Given the description of an element on the screen output the (x, y) to click on. 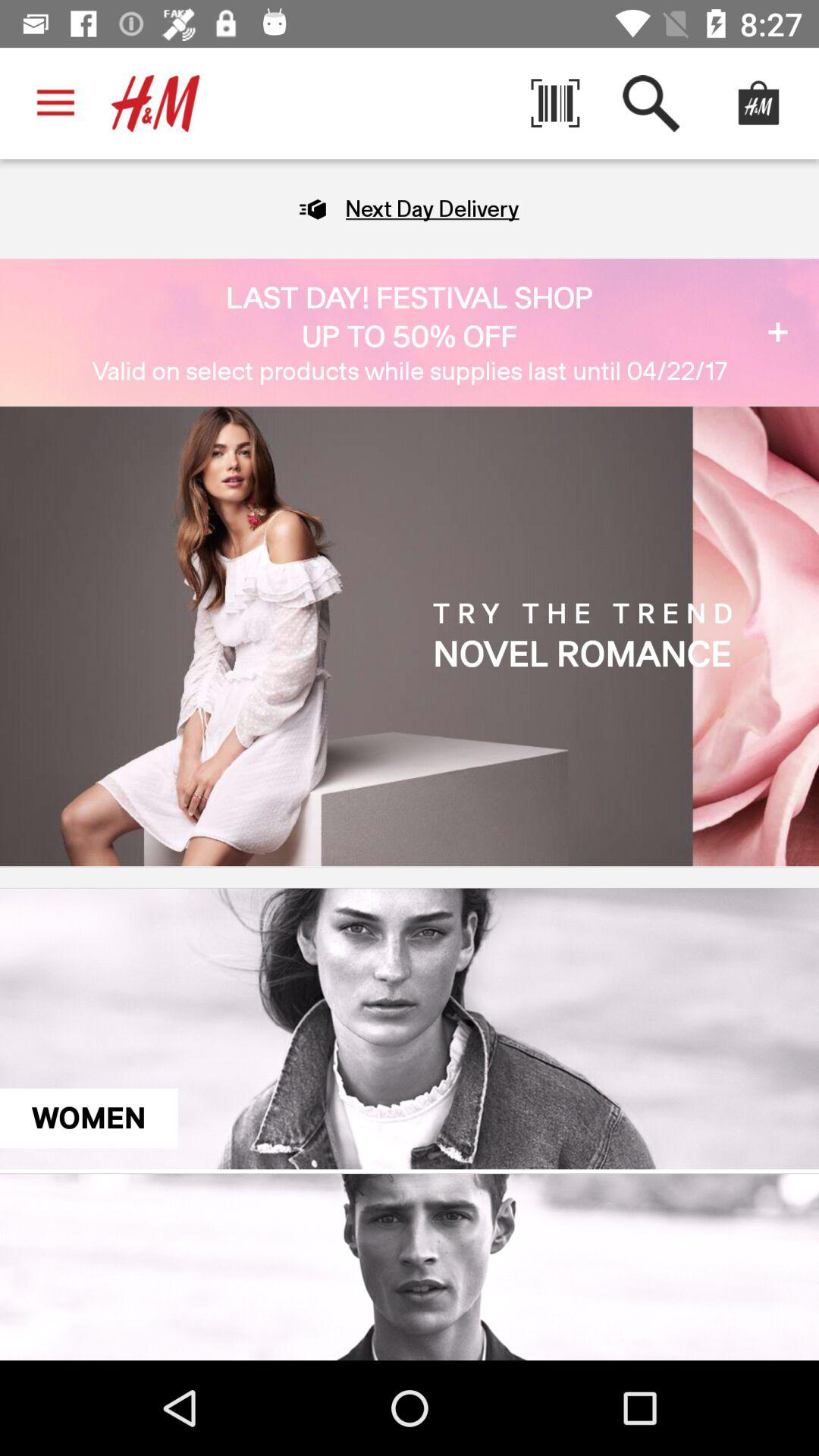
jump to next day delivery (432, 208)
